Given the description of an element on the screen output the (x, y) to click on. 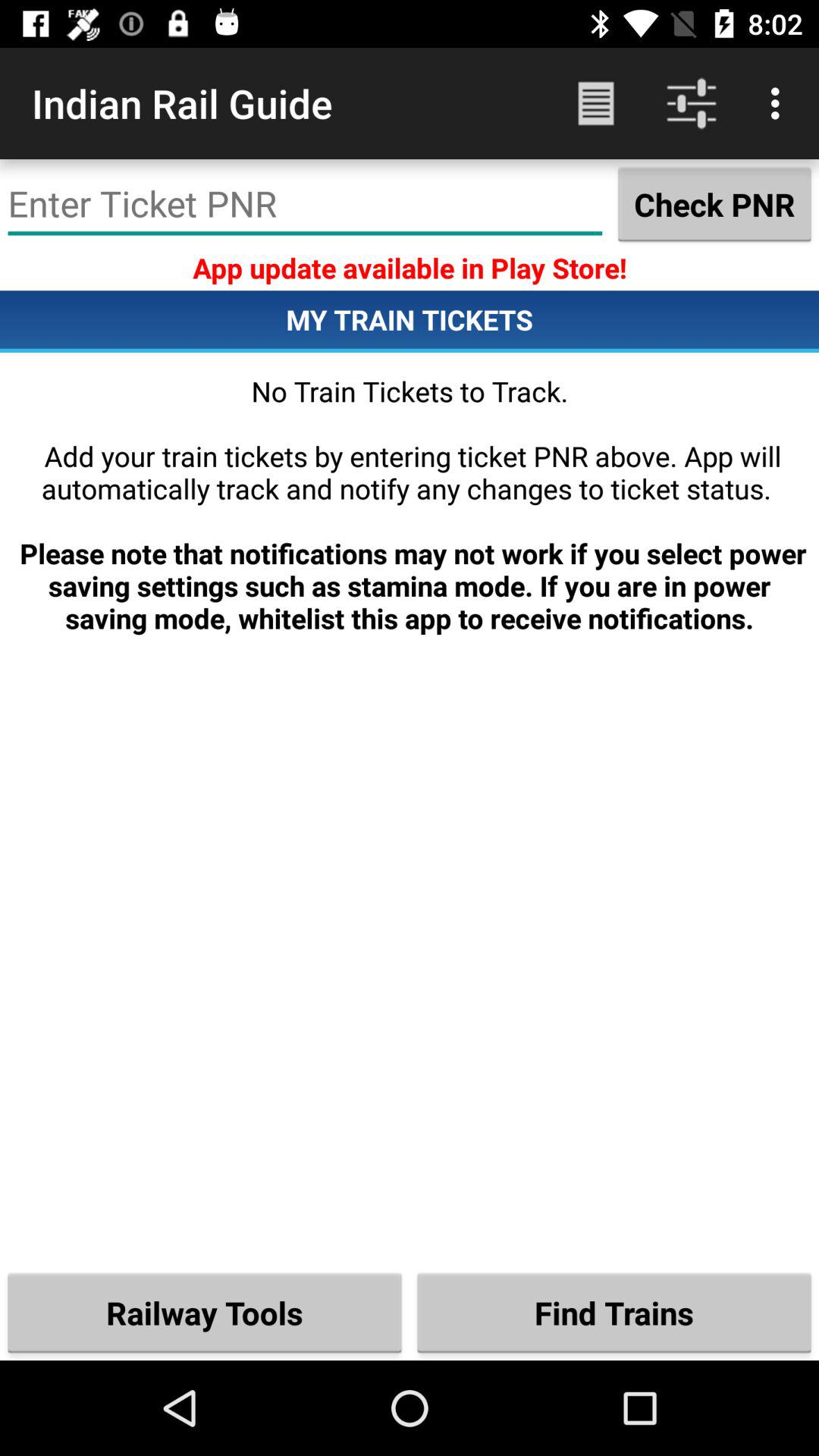
flip until the find trains item (614, 1312)
